Given the description of an element on the screen output the (x, y) to click on. 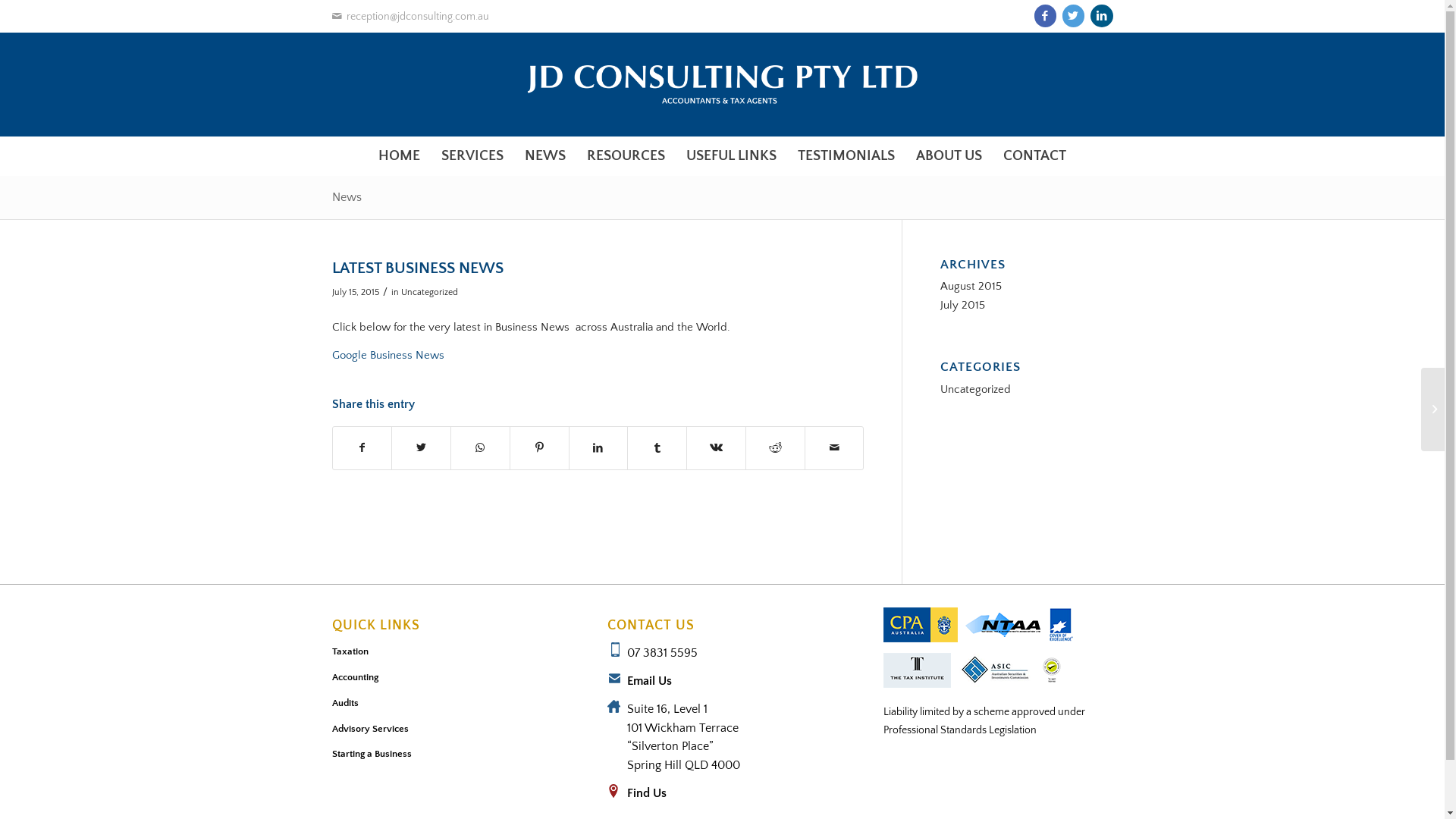
Twitter Element type: hover (1072, 15)
News Element type: text (346, 196)
August 2015 Element type: text (970, 285)
LinkedIn Element type: hover (1101, 15)
NEWS Element type: text (545, 156)
Find Us Element type: text (646, 793)
Email Us Element type: text (649, 680)
USEFUL LINKS Element type: text (731, 156)
SERVICES Element type: text (472, 156)
CONTACT Element type: text (1034, 156)
Accounting Element type: text (446, 677)
ABOUT US Element type: text (948, 156)
Facebook Element type: hover (1045, 15)
RESOURCES Element type: text (625, 156)
Uncategorized Element type: text (428, 292)
Advisory Services Element type: text (446, 728)
TESTIMONIALS Element type: text (846, 156)
  reception@jdconsulting.com.au Element type: text (410, 16)
Google Business News Element type: text (388, 354)
HOME Element type: text (398, 156)
Audits Element type: text (446, 703)
Starting a Business Element type: text (446, 754)
Uncategorized Element type: text (975, 388)
July 2015 Element type: text (962, 304)
Taxation Element type: text (446, 652)
